Given the description of an element on the screen output the (x, y) to click on. 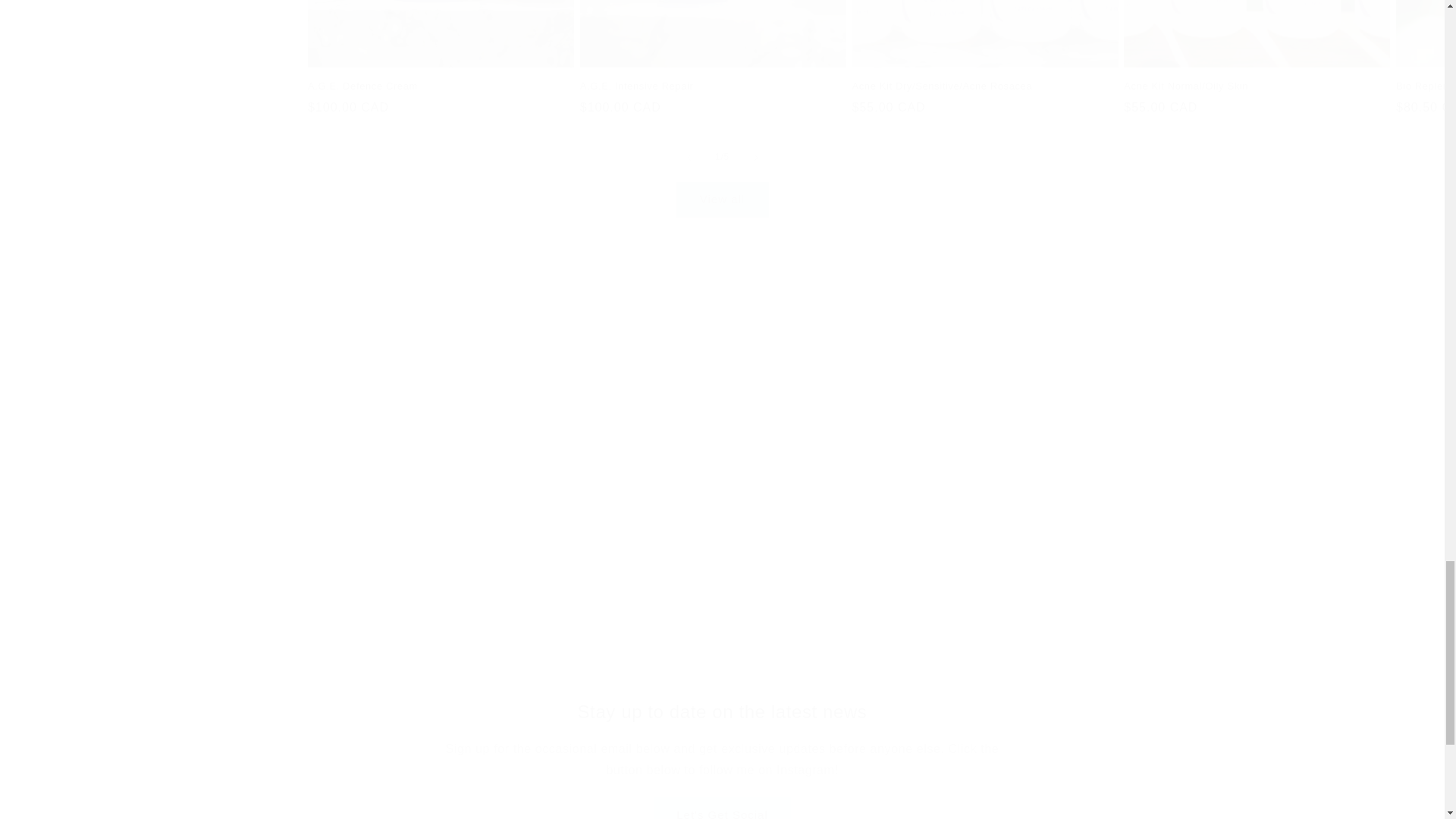
A.G.E. Defence Cream (440, 86)
Let's Get Social (722, 807)
Stay up to date on the latest news (721, 710)
